Given the description of an element on the screen output the (x, y) to click on. 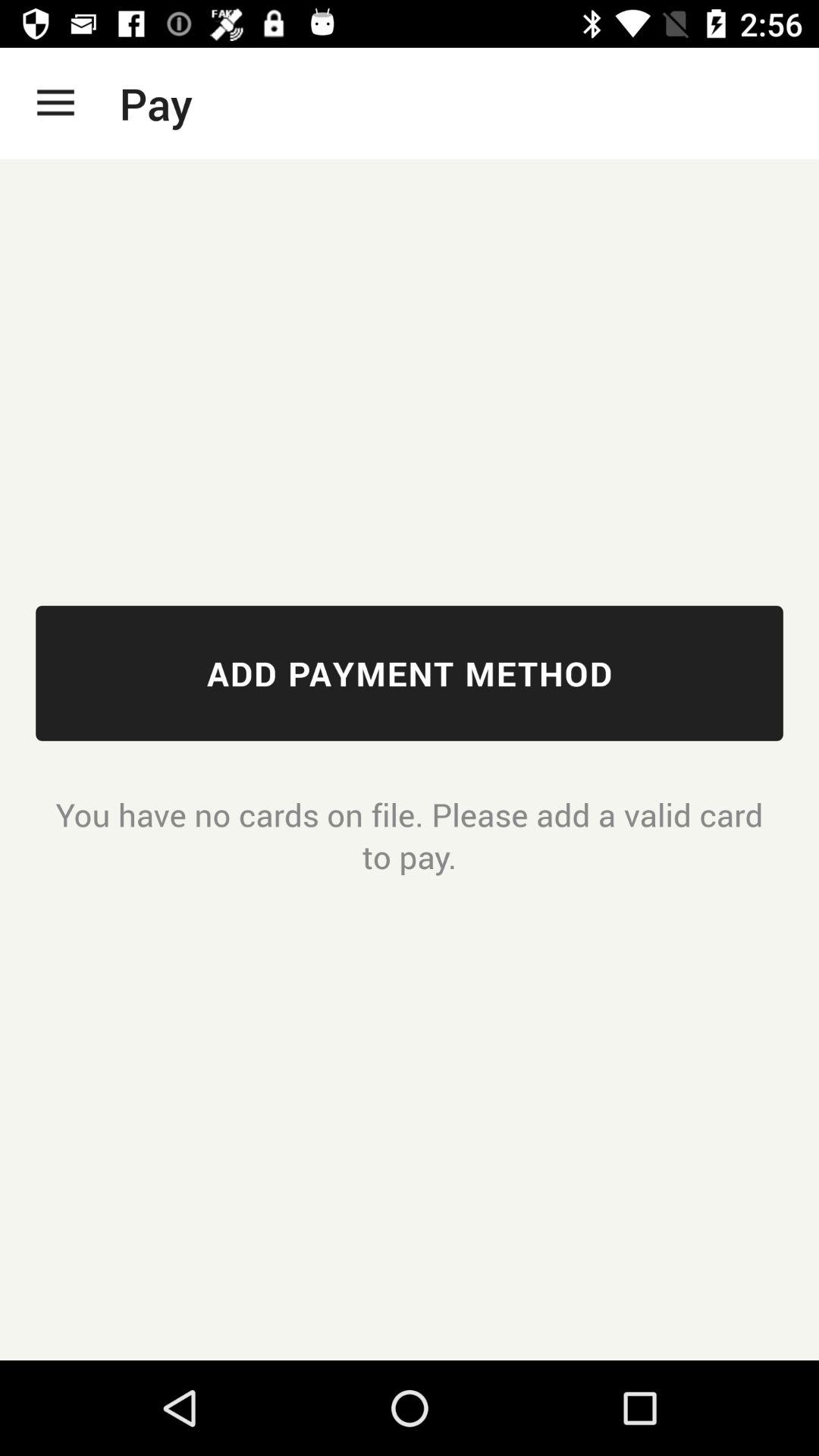
jump to add payment method item (409, 673)
